Given the description of an element on the screen output the (x, y) to click on. 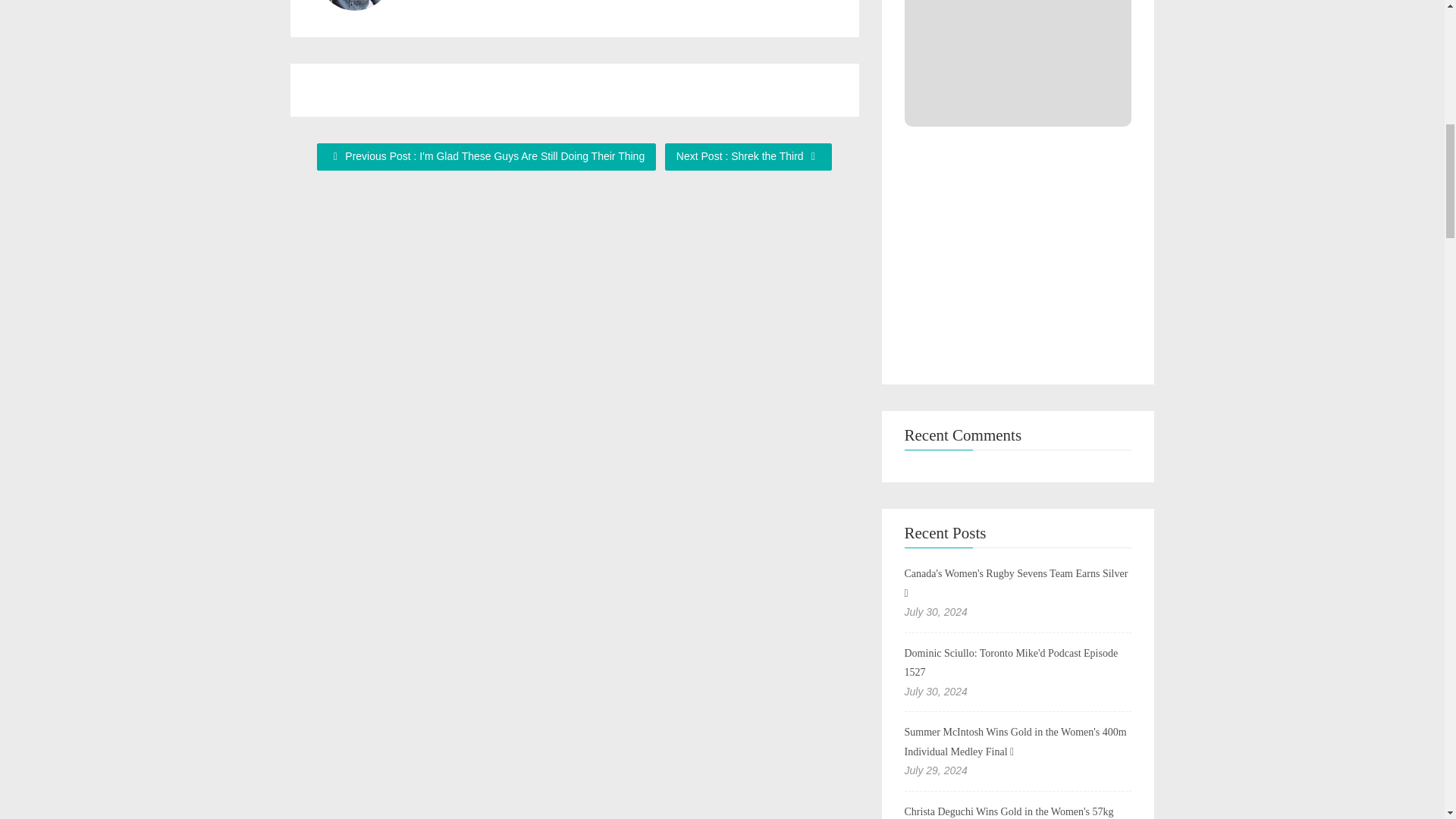
Dominic Sciullo: Toronto Mike'd Podcast Episode 1527 (1011, 662)
Next Post : Shrek the Third (748, 156)
